Given the description of an element on the screen output the (x, y) to click on. 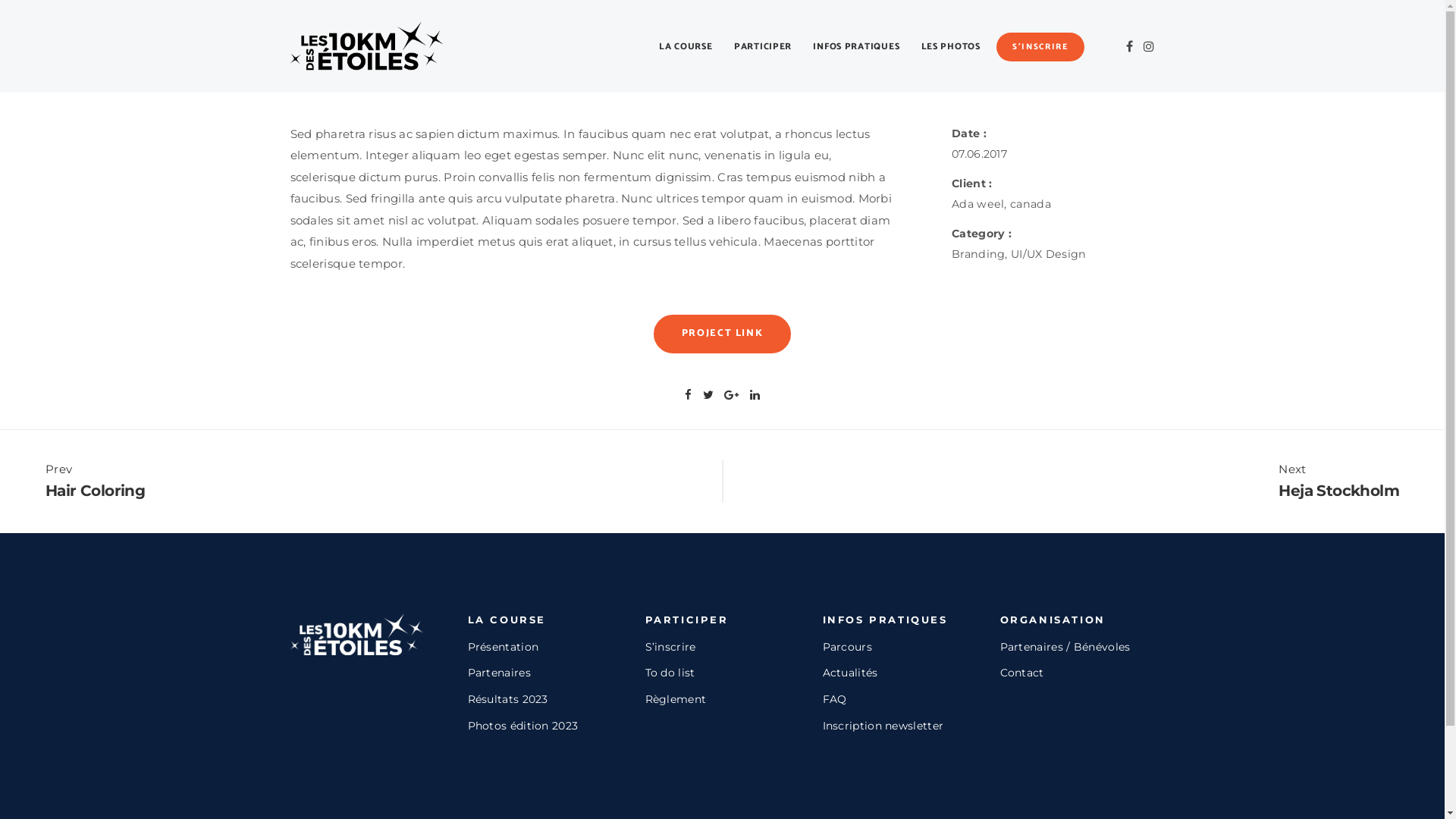
Parcours Element type: text (846, 646)
Contact Element type: text (1021, 672)
Prev
Hair Coloring Element type: text (375, 481)
Partenaires Element type: text (498, 672)
LA COURSE Element type: text (689, 46)
PROJECT LINK Element type: text (722, 333)
LES PHOTOS Element type: text (950, 46)
PARTICIPER Element type: text (762, 46)
Next
Heja Stockholm Element type: text (1069, 481)
To do list Element type: text (669, 672)
INFOS PRATIQUES Element type: text (855, 46)
Inscription newsletter Element type: text (882, 725)
FAQ Element type: text (834, 699)
